Given the description of an element on the screen output the (x, y) to click on. 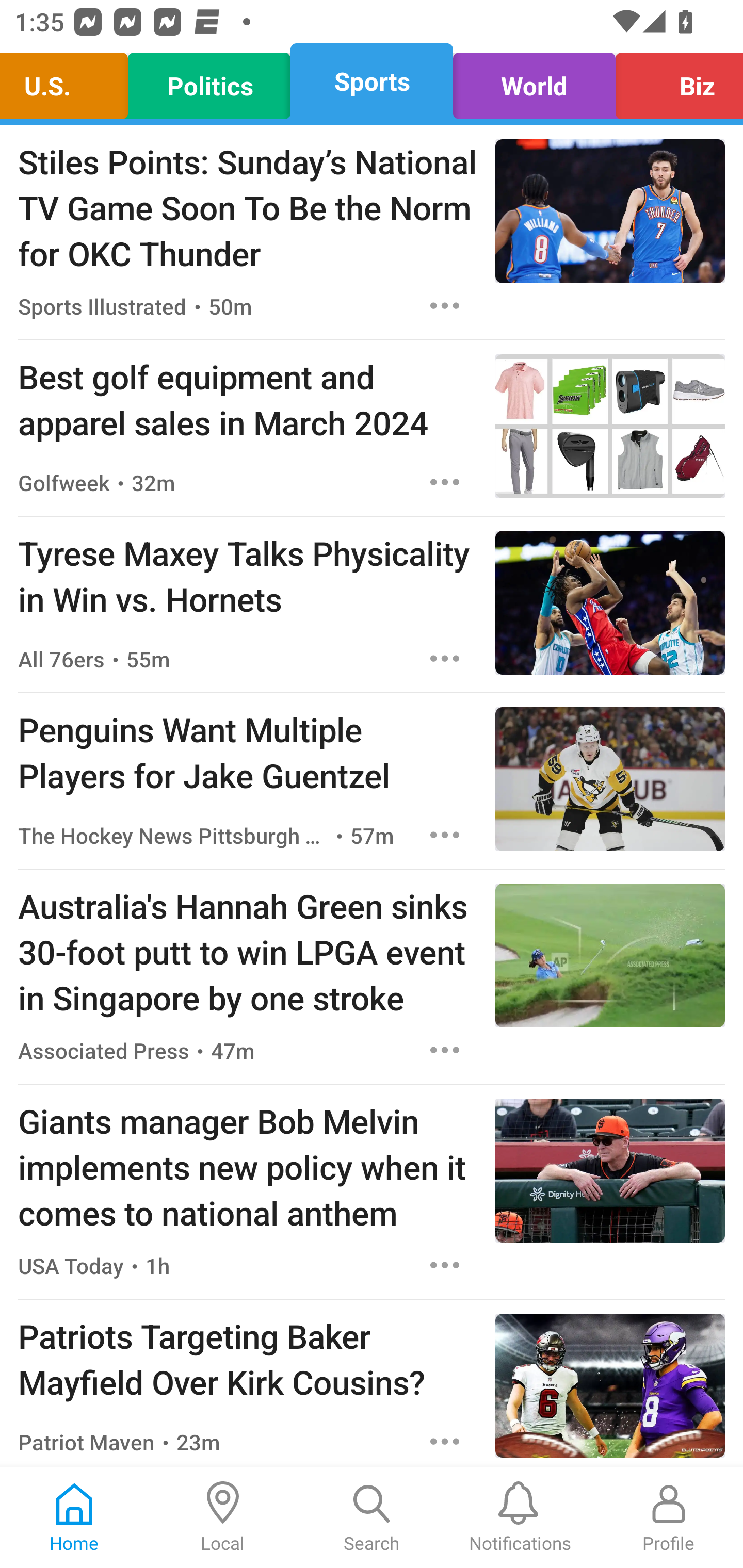
U.S. (69, 81)
Politics (209, 81)
Sports (371, 81)
World (534, 81)
Biz (673, 81)
Options (444, 305)
Options (444, 481)
Options (444, 658)
Options (444, 834)
Options (444, 1050)
Options (444, 1265)
Options (444, 1441)
Local (222, 1517)
Search (371, 1517)
Notifications (519, 1517)
Profile (668, 1517)
